Given the description of an element on the screen output the (x, y) to click on. 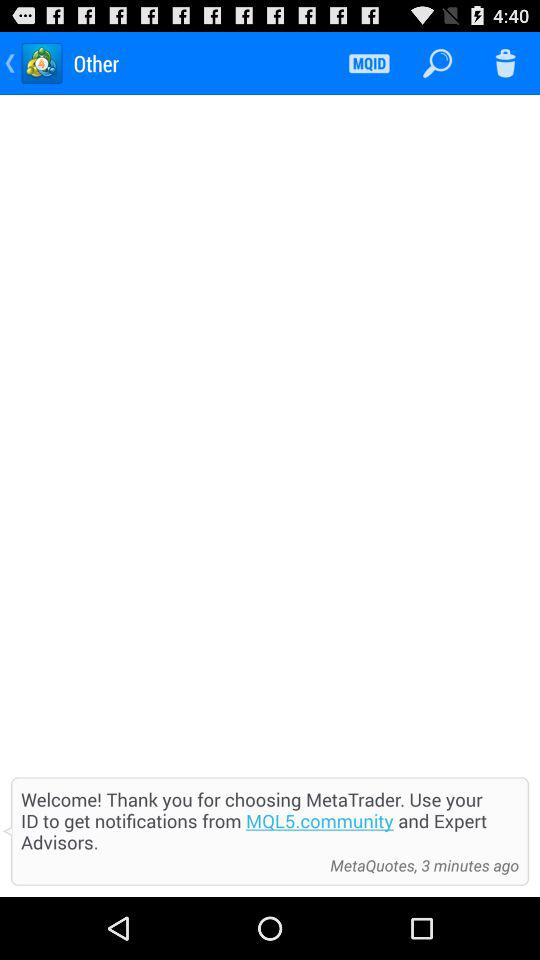
flip until the metaquotes 3 minutes icon (419, 865)
